Given the description of an element on the screen output the (x, y) to click on. 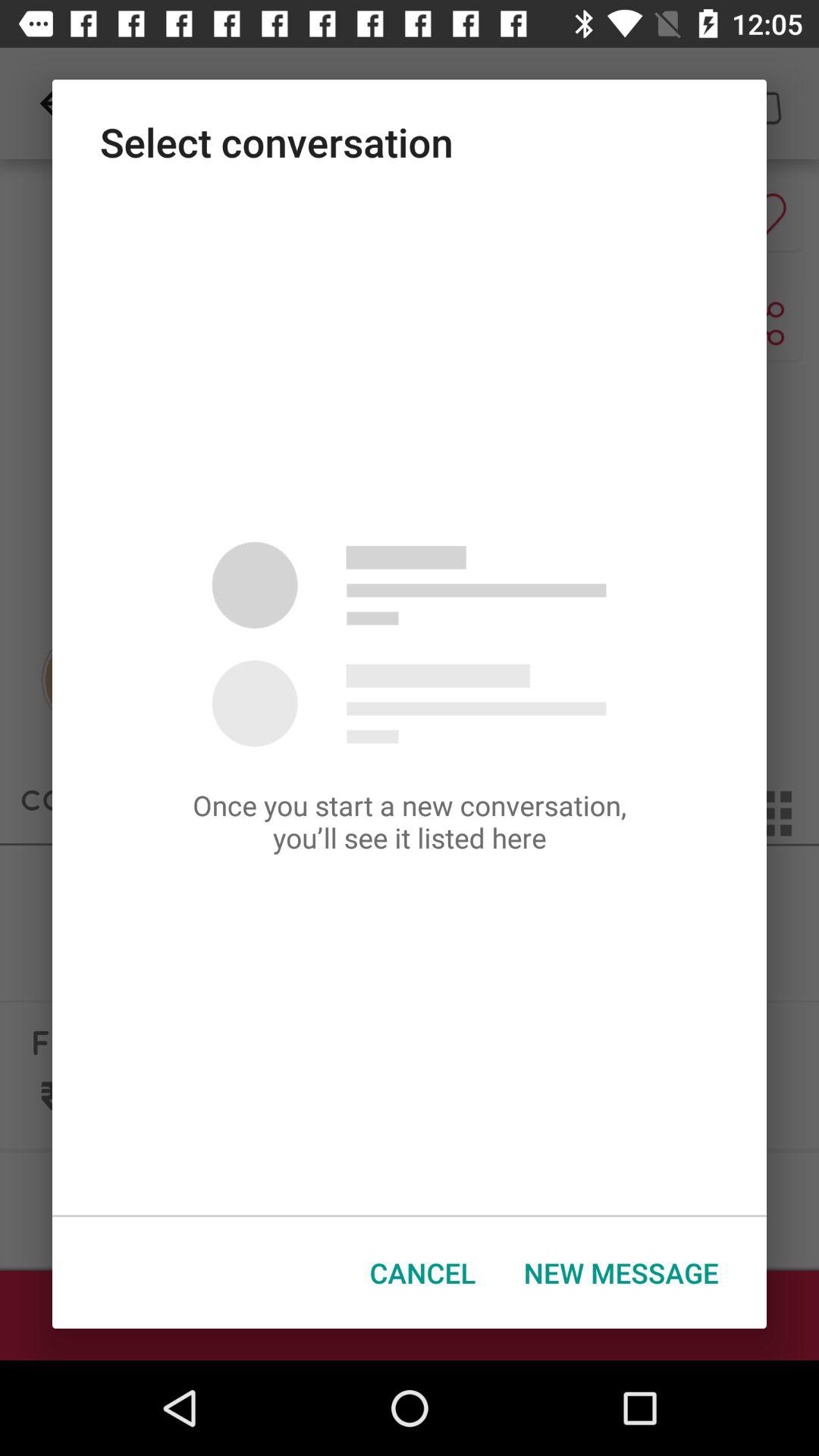
tap the button next to new message icon (422, 1272)
